Given the description of an element on the screen output the (x, y) to click on. 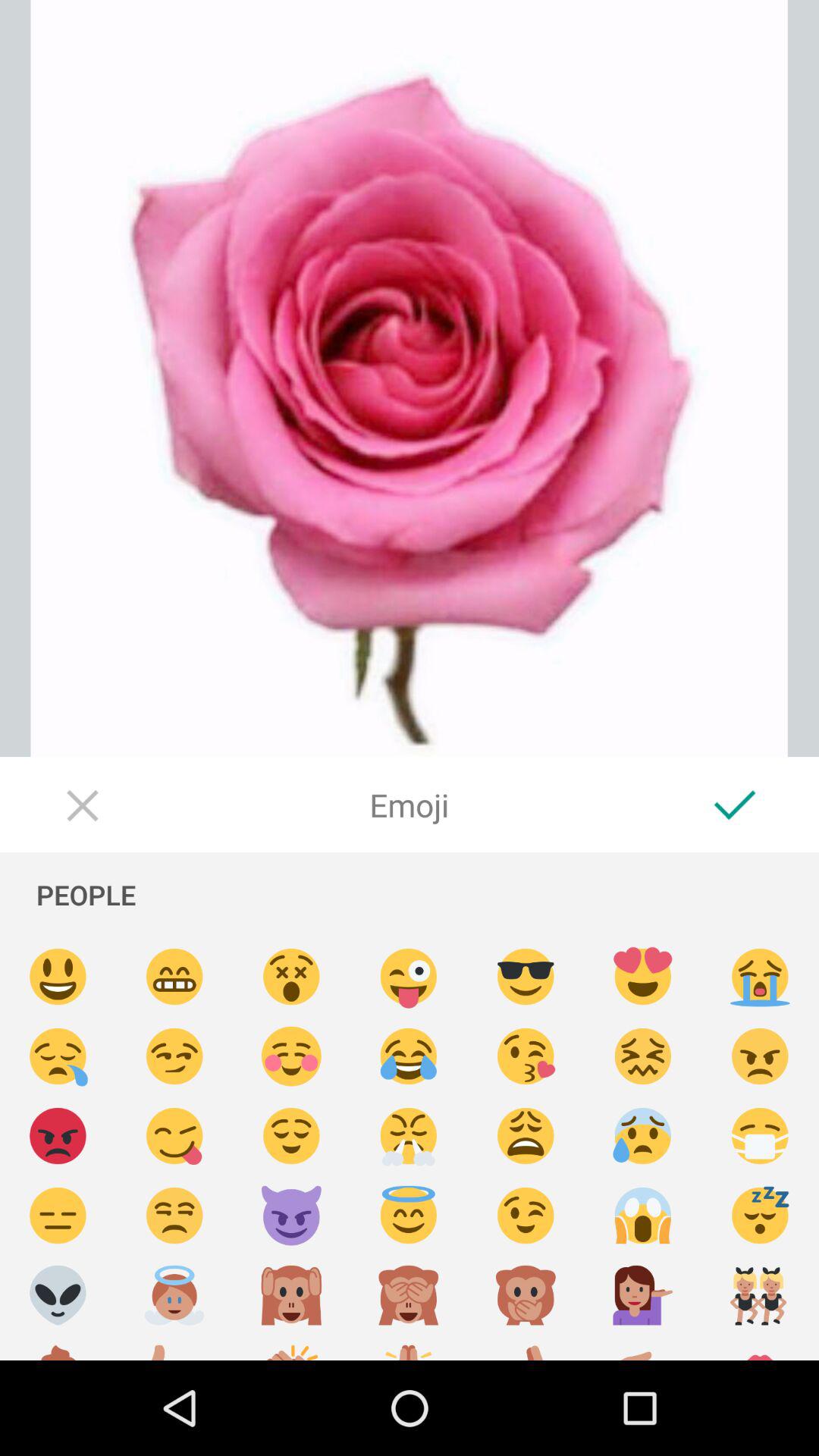
insert scared emoji (642, 1215)
